Given the description of an element on the screen output the (x, y) to click on. 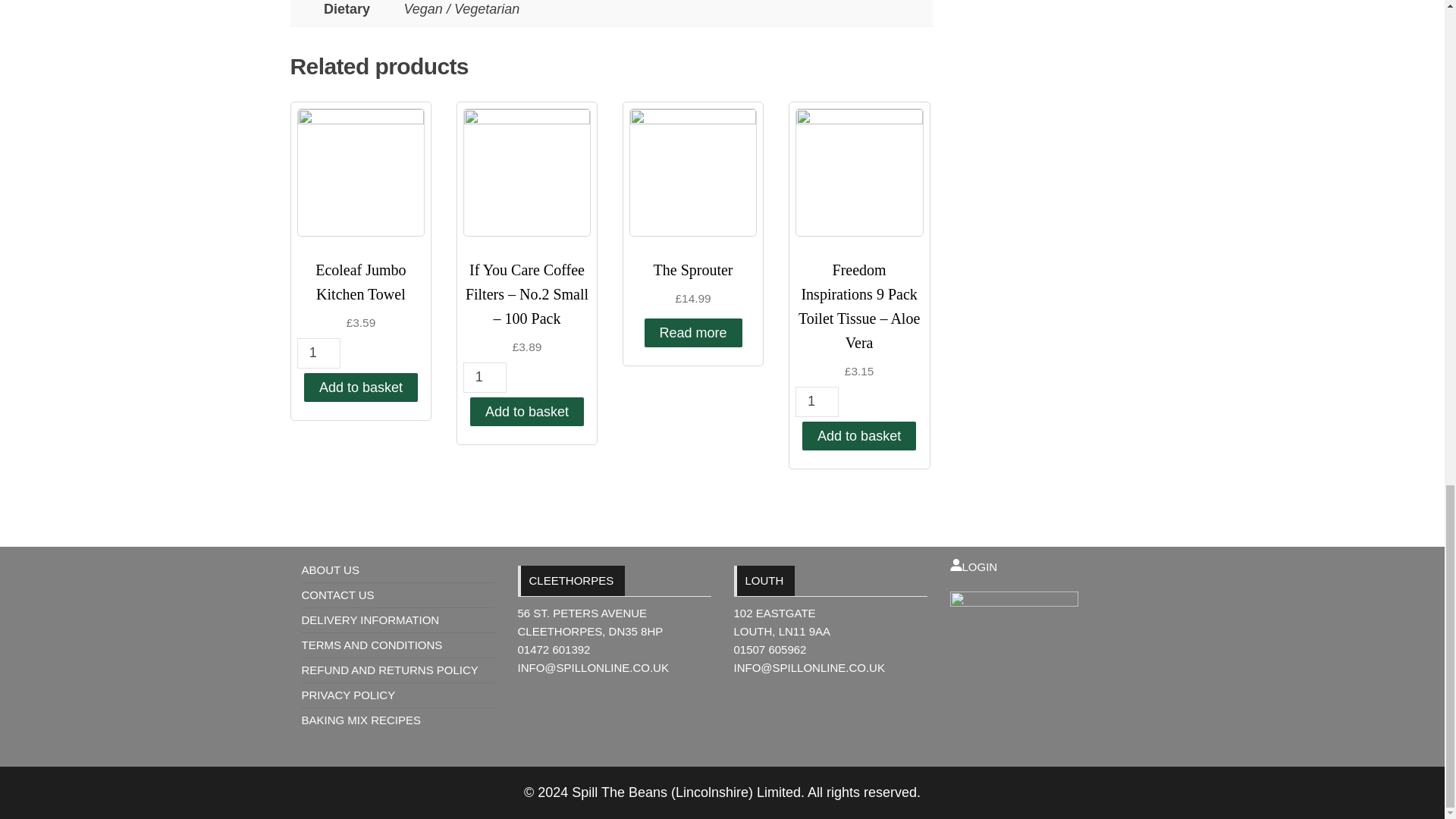
1 (817, 401)
1 (318, 353)
1 (484, 377)
